Given the description of an element on the screen output the (x, y) to click on. 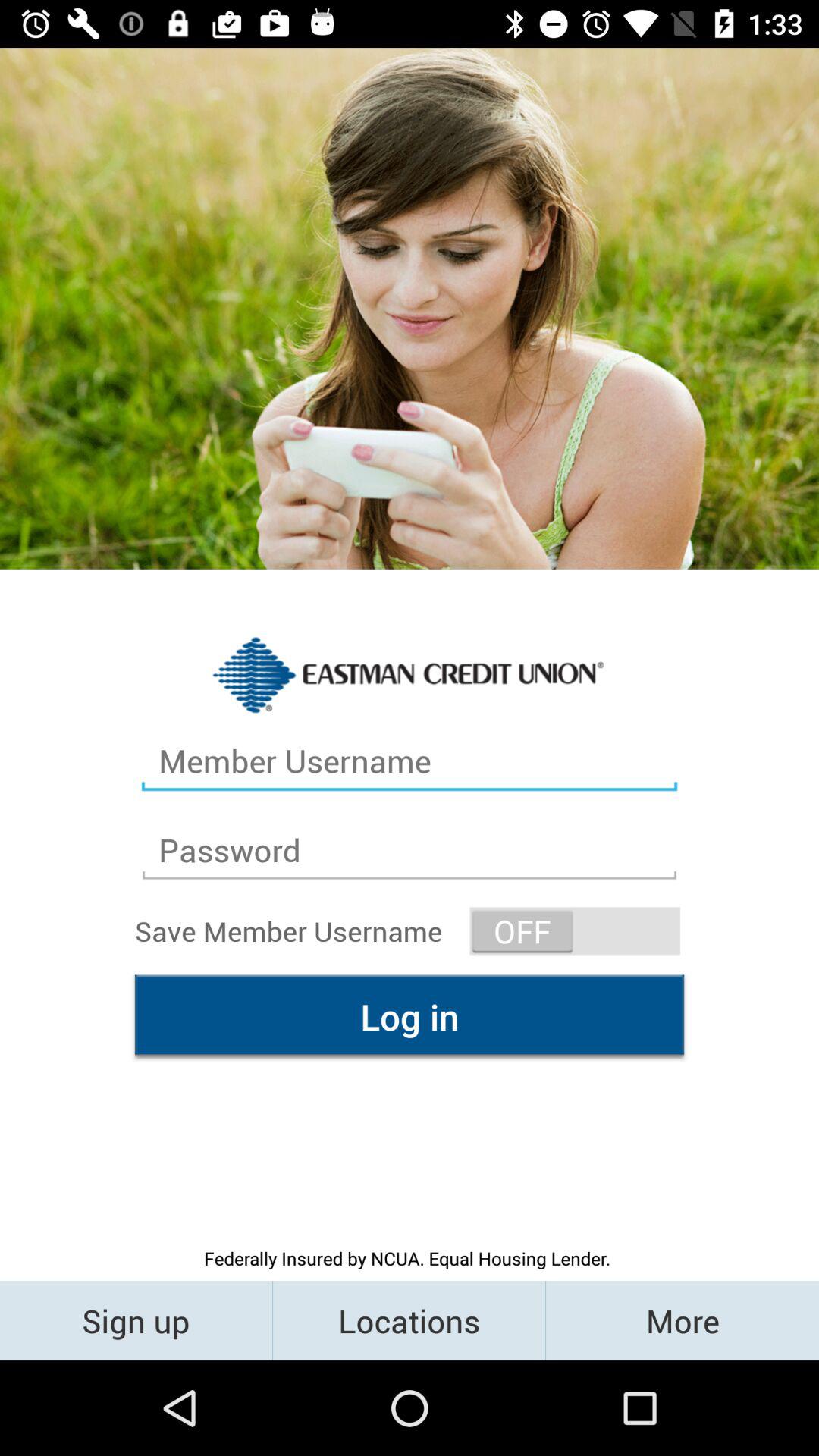
launch the item to the right of the sign up item (409, 1320)
